Given the description of an element on the screen output the (x, y) to click on. 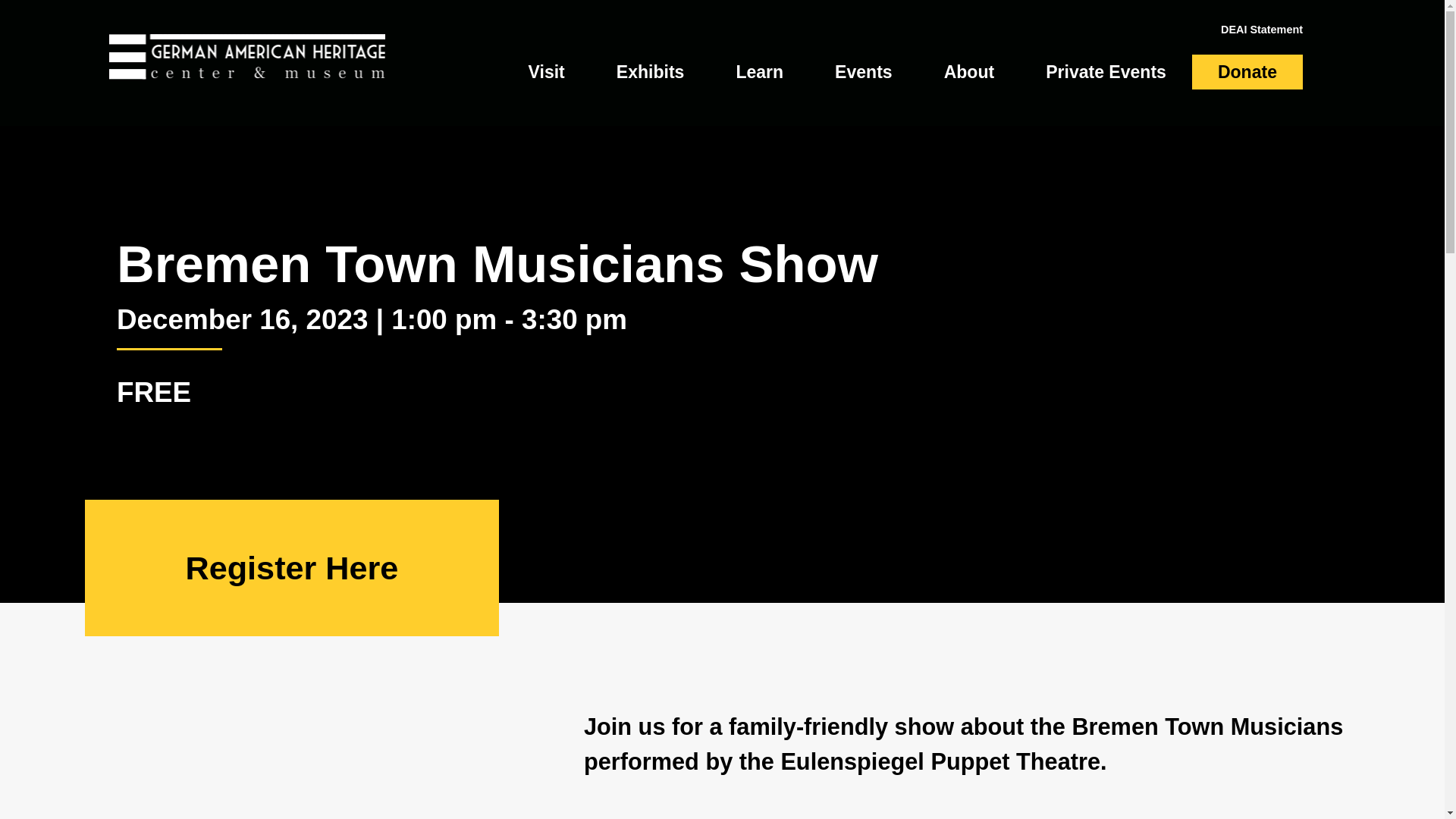
Events (863, 71)
Visit (546, 71)
Learn (759, 71)
Private Events (1106, 71)
Exhibits (650, 71)
Donate (1247, 71)
About (969, 71)
